Given the description of an element on the screen output the (x, y) to click on. 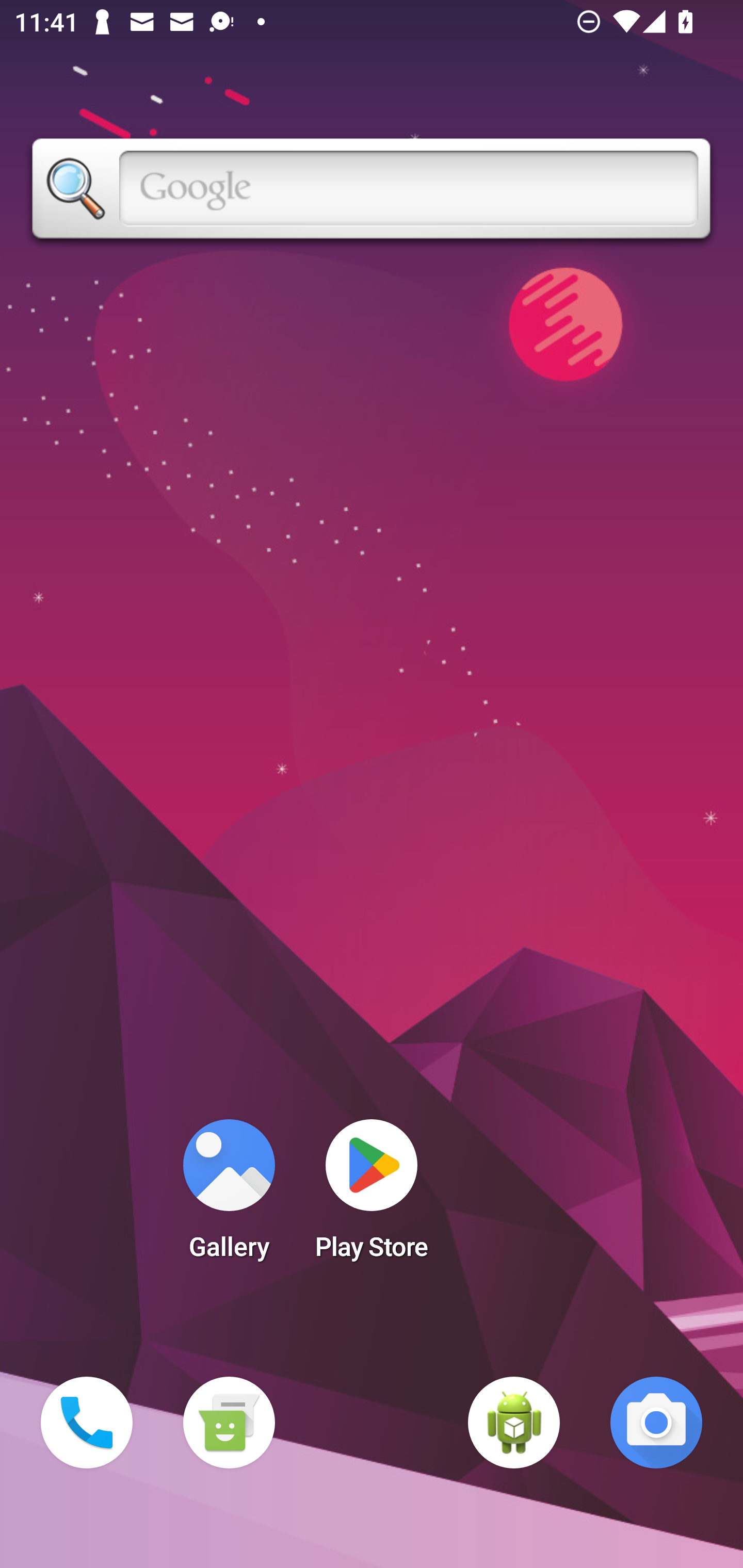
Gallery (228, 1195)
Play Store (371, 1195)
Phone (86, 1422)
Messaging (228, 1422)
WebView Browser Tester (513, 1422)
Camera (656, 1422)
